Given the description of an element on the screen output the (x, y) to click on. 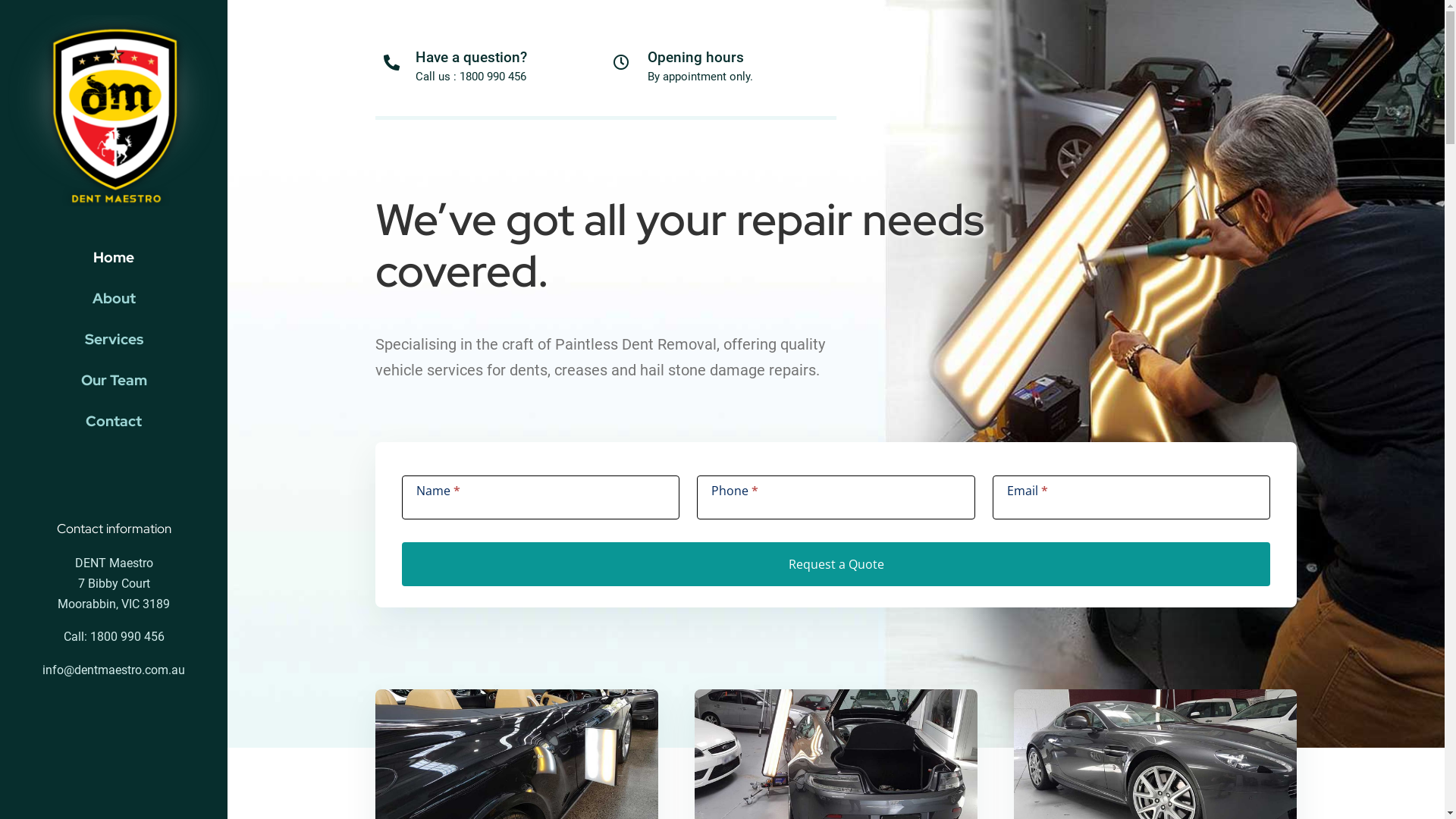
Our Team Element type: text (113, 380)
Contact Element type: text (113, 421)
Request a Quote Element type: text (835, 564)
Home Element type: text (113, 257)
About Element type: text (113, 298)
Services Element type: text (113, 339)
